Given the description of an element on the screen output the (x, y) to click on. 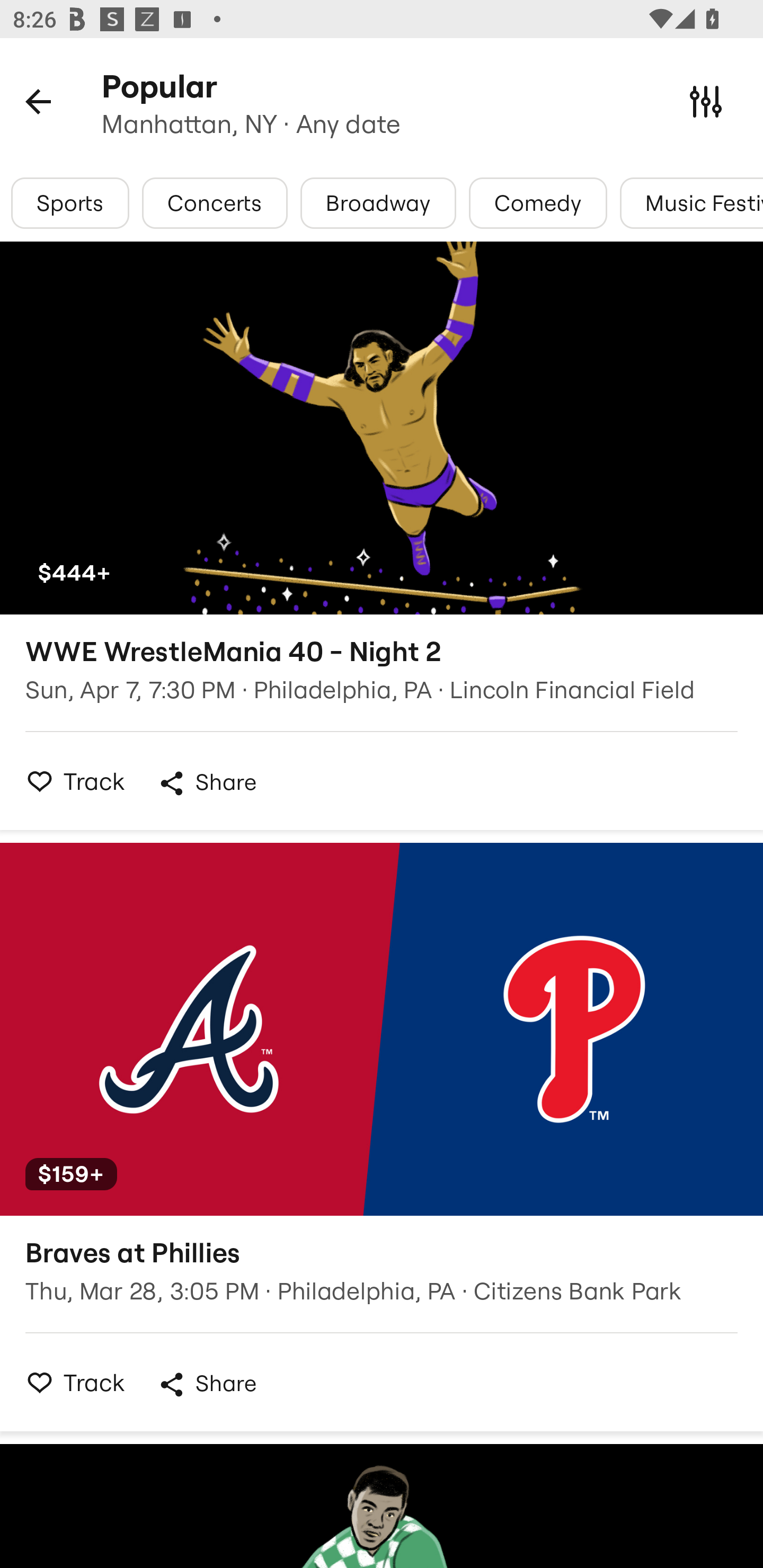
Back (38, 100)
Filters (705, 100)
Sports (69, 202)
Concerts (214, 202)
Broadway (378, 202)
Comedy (538, 202)
Music Festivals (691, 202)
Track (70, 780)
Share (207, 783)
Track (70, 1381)
Share (207, 1384)
